Given the description of an element on the screen output the (x, y) to click on. 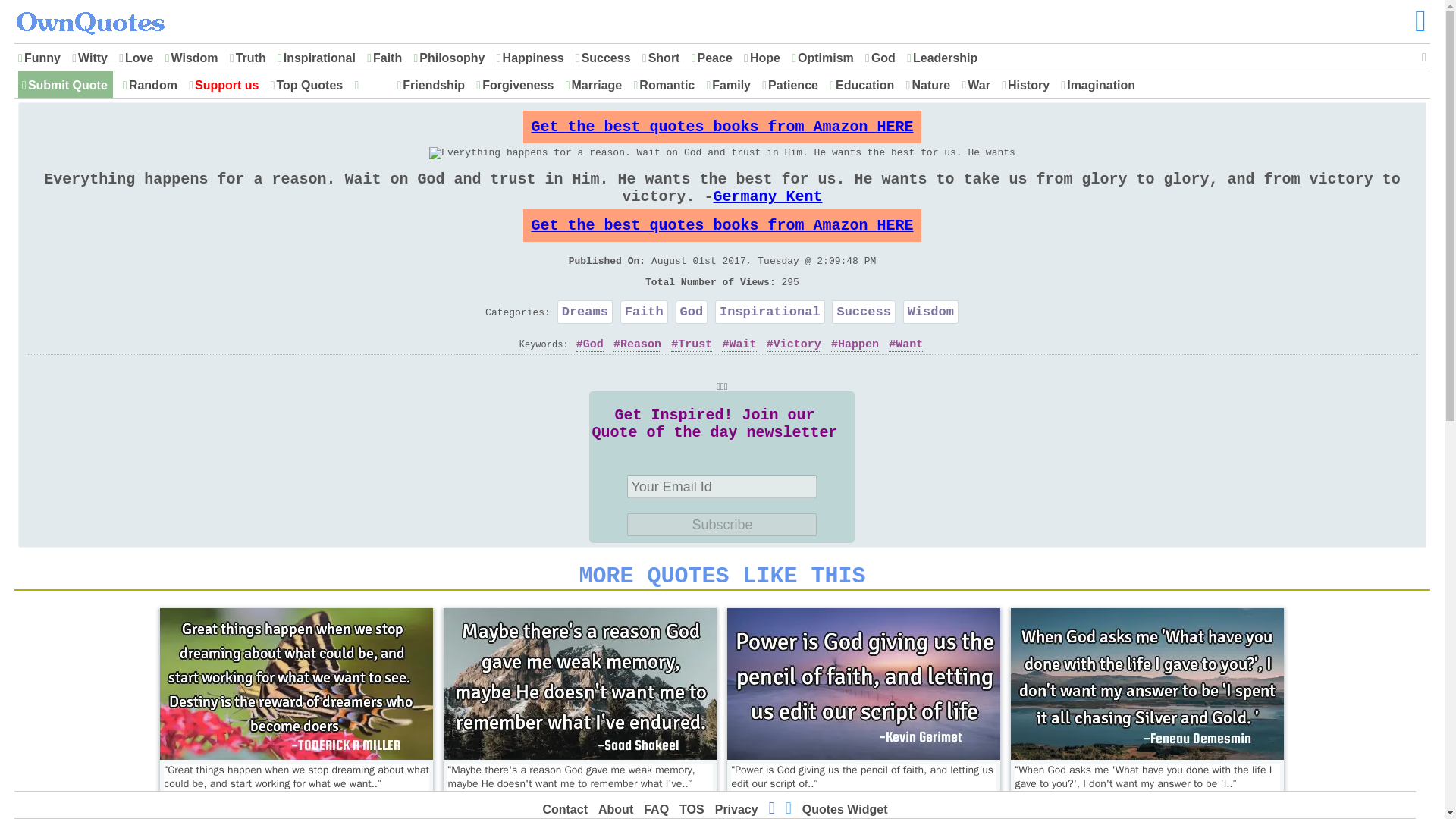
Philosophy (451, 57)
Faith (387, 57)
Subscribe (721, 524)
War (978, 85)
Top Quotes (309, 85)
Education (864, 85)
Nature (930, 85)
Happiness (533, 57)
Short (664, 57)
Random (152, 85)
